Given the description of an element on the screen output the (x, y) to click on. 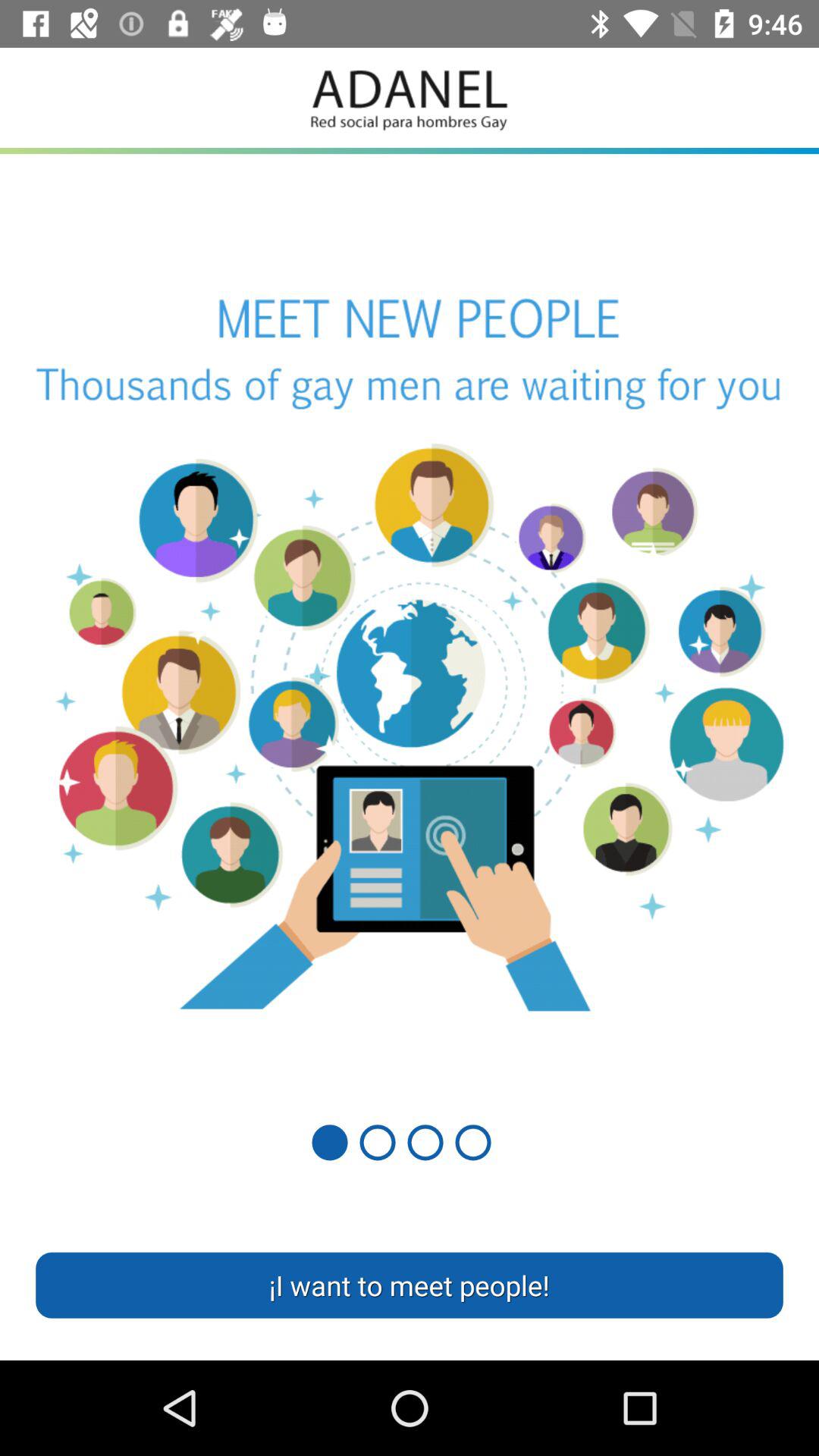
tap i want to icon (409, 1285)
